Given the description of an element on the screen output the (x, y) to click on. 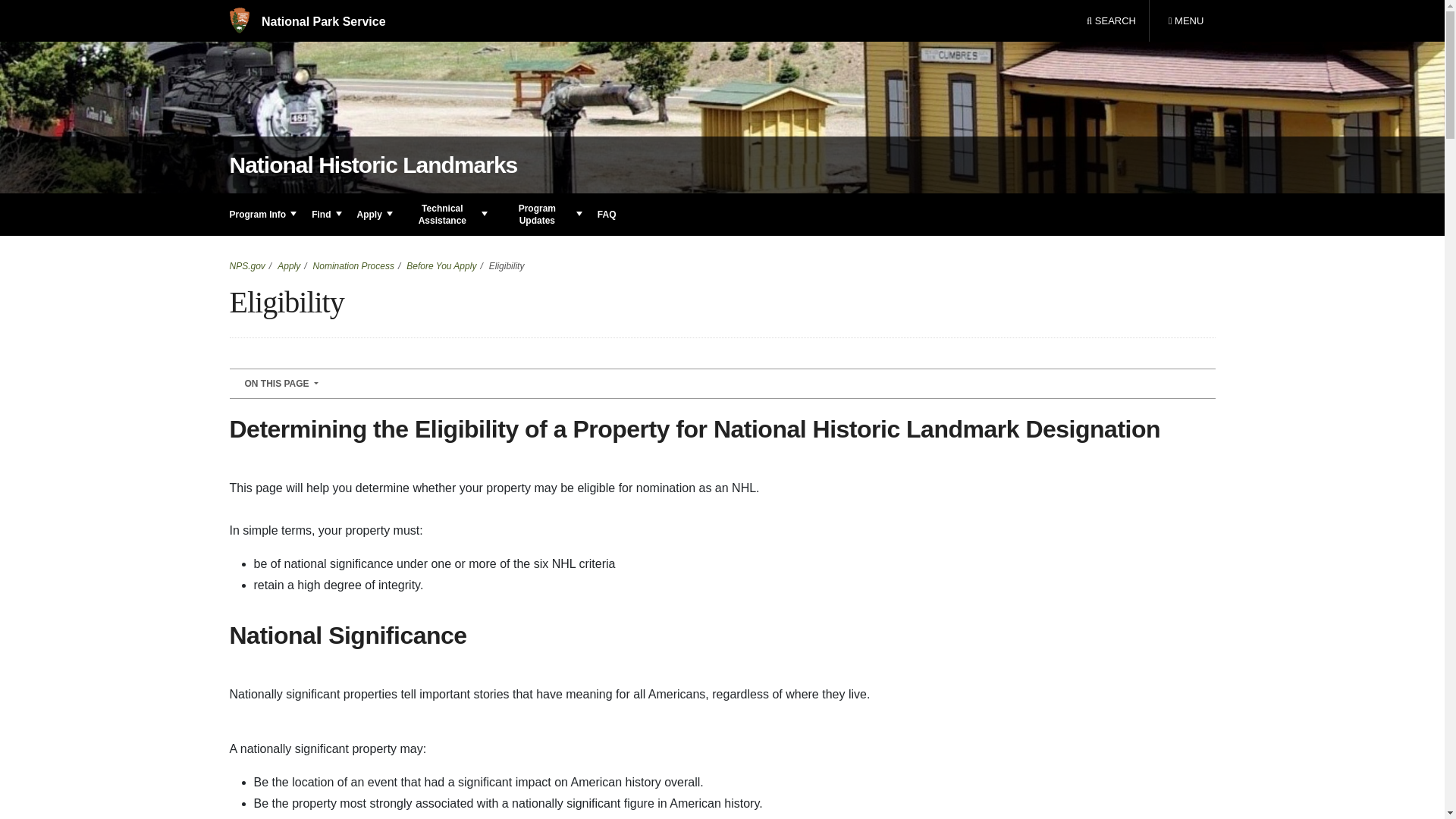
National Park Service (307, 20)
SEARCH (1111, 20)
